Given the description of an element on the screen output the (x, y) to click on. 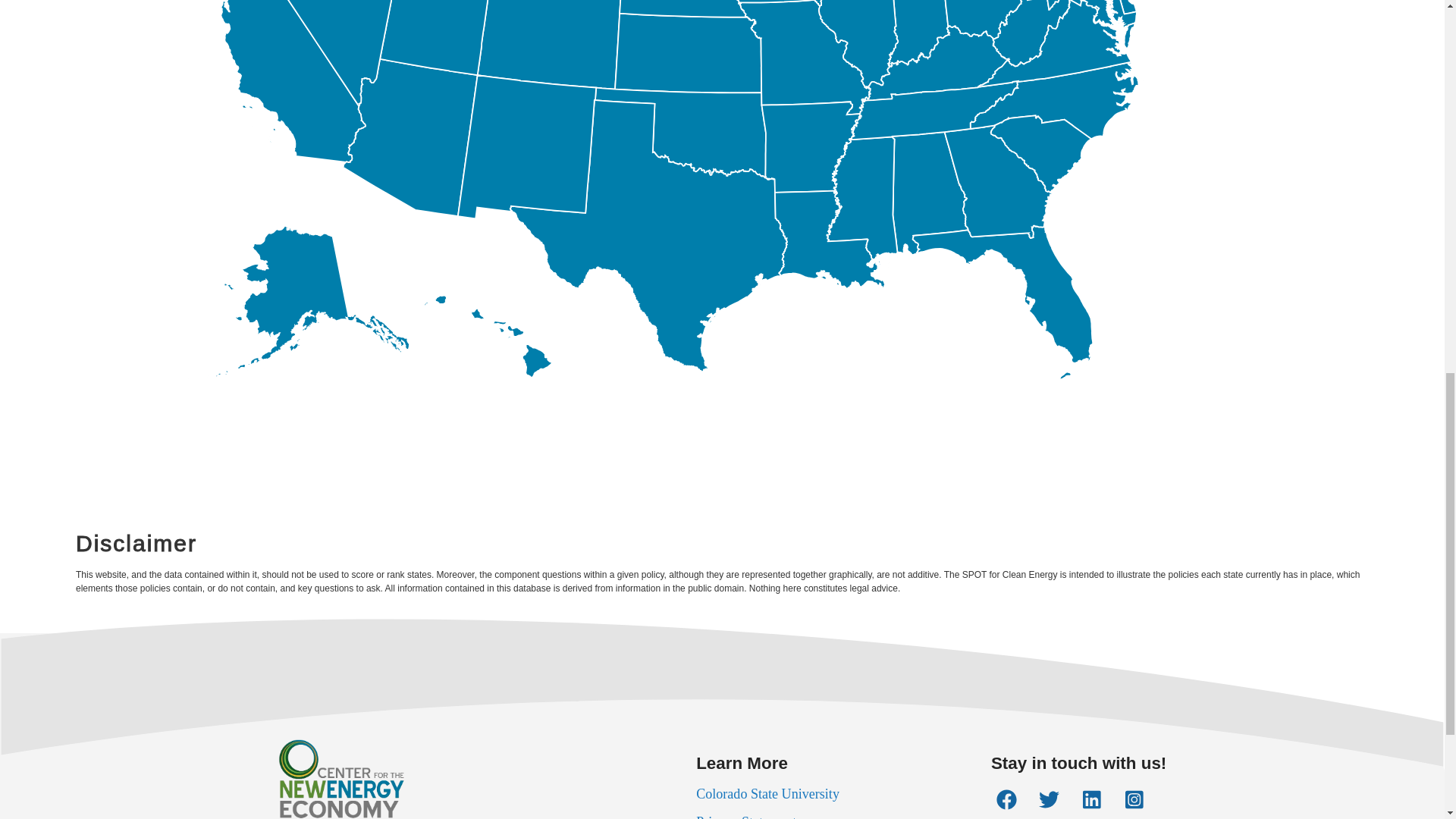
Twitter (1049, 799)
Facebook (1005, 799)
